Given the description of an element on the screen output the (x, y) to click on. 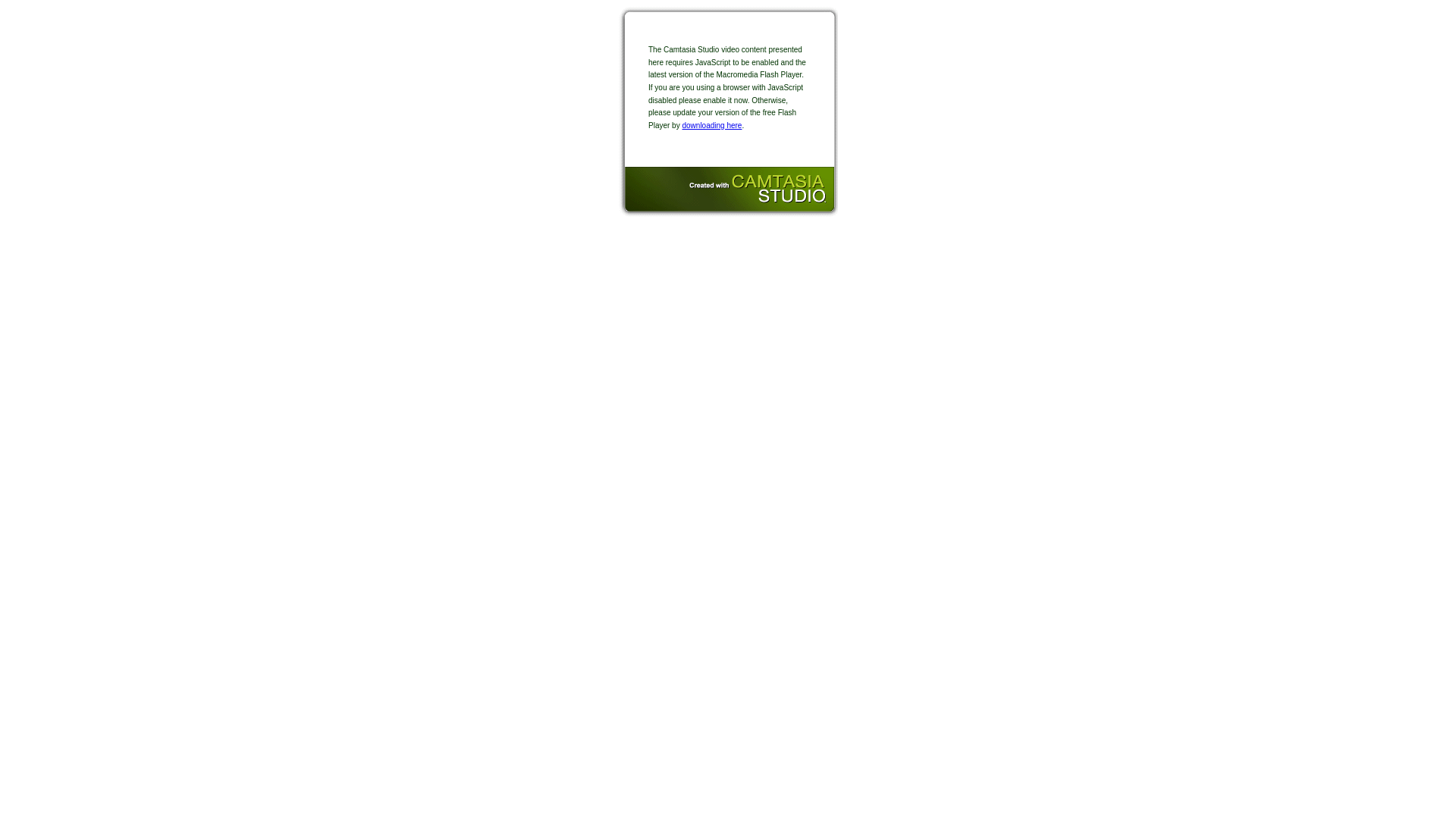
downloading here Element type: text (711, 125)
